Given the description of an element on the screen output the (x, y) to click on. 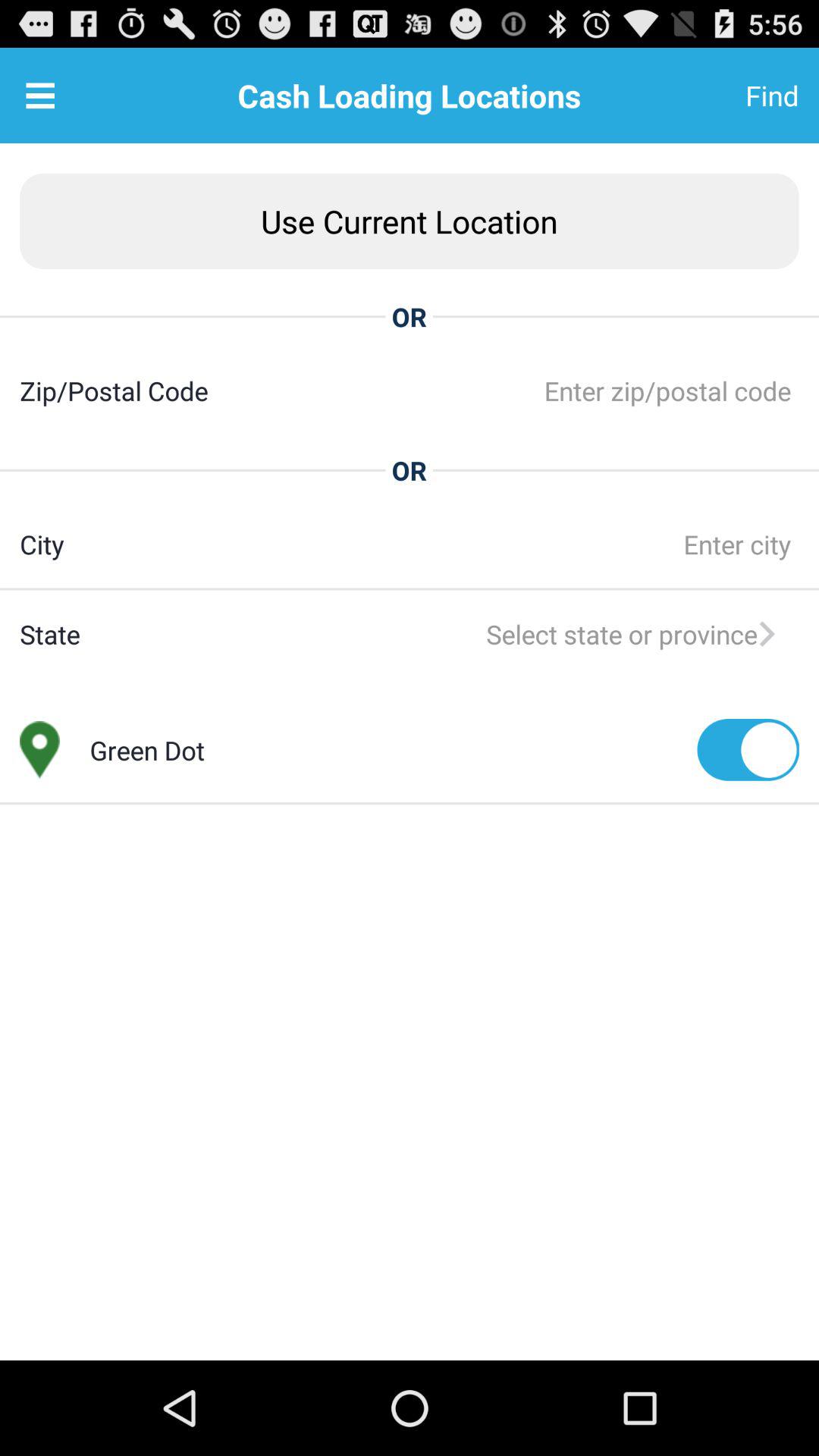
click item above or (409, 221)
